Given the description of an element on the screen output the (x, y) to click on. 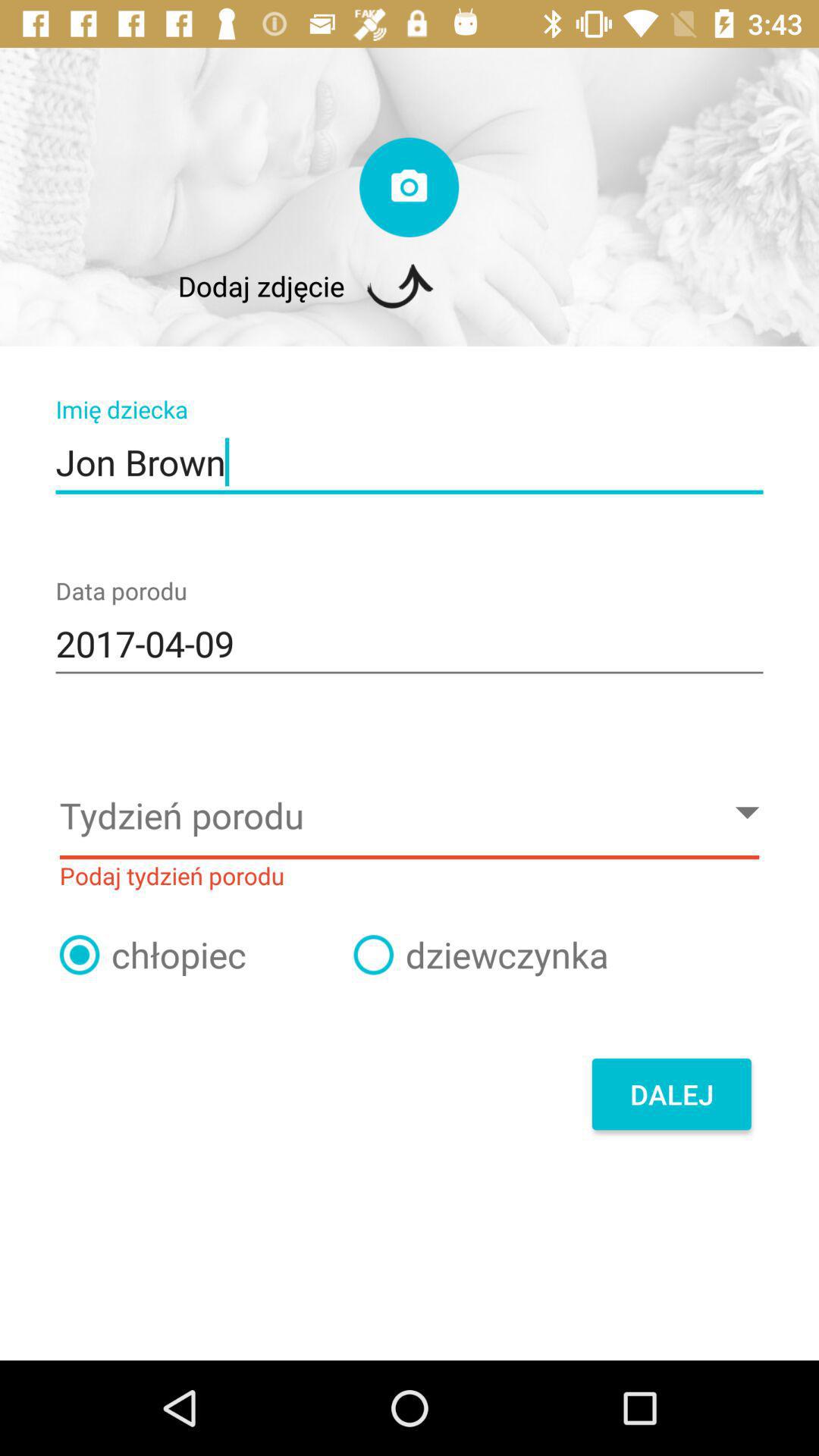
to select your option (79, 954)
